Given the description of an element on the screen output the (x, y) to click on. 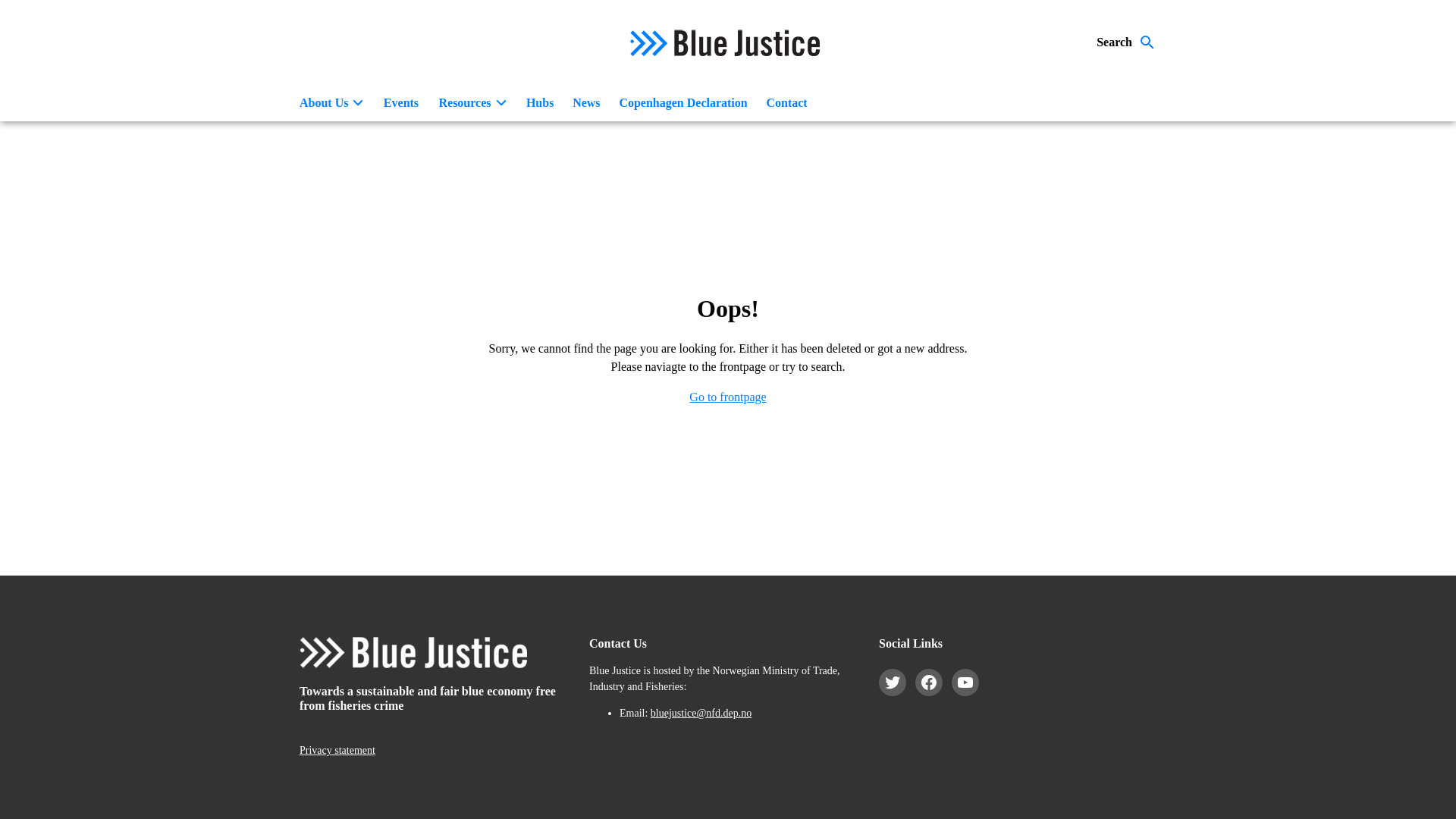
Resources (472, 103)
About Us (330, 103)
YouTube (965, 682)
Hubs (540, 103)
Go to frontpage (726, 396)
News (586, 103)
Contact (786, 103)
Twitter (892, 682)
Privacy statement (337, 749)
Facebook (928, 682)
